Given the description of an element on the screen output the (x, y) to click on. 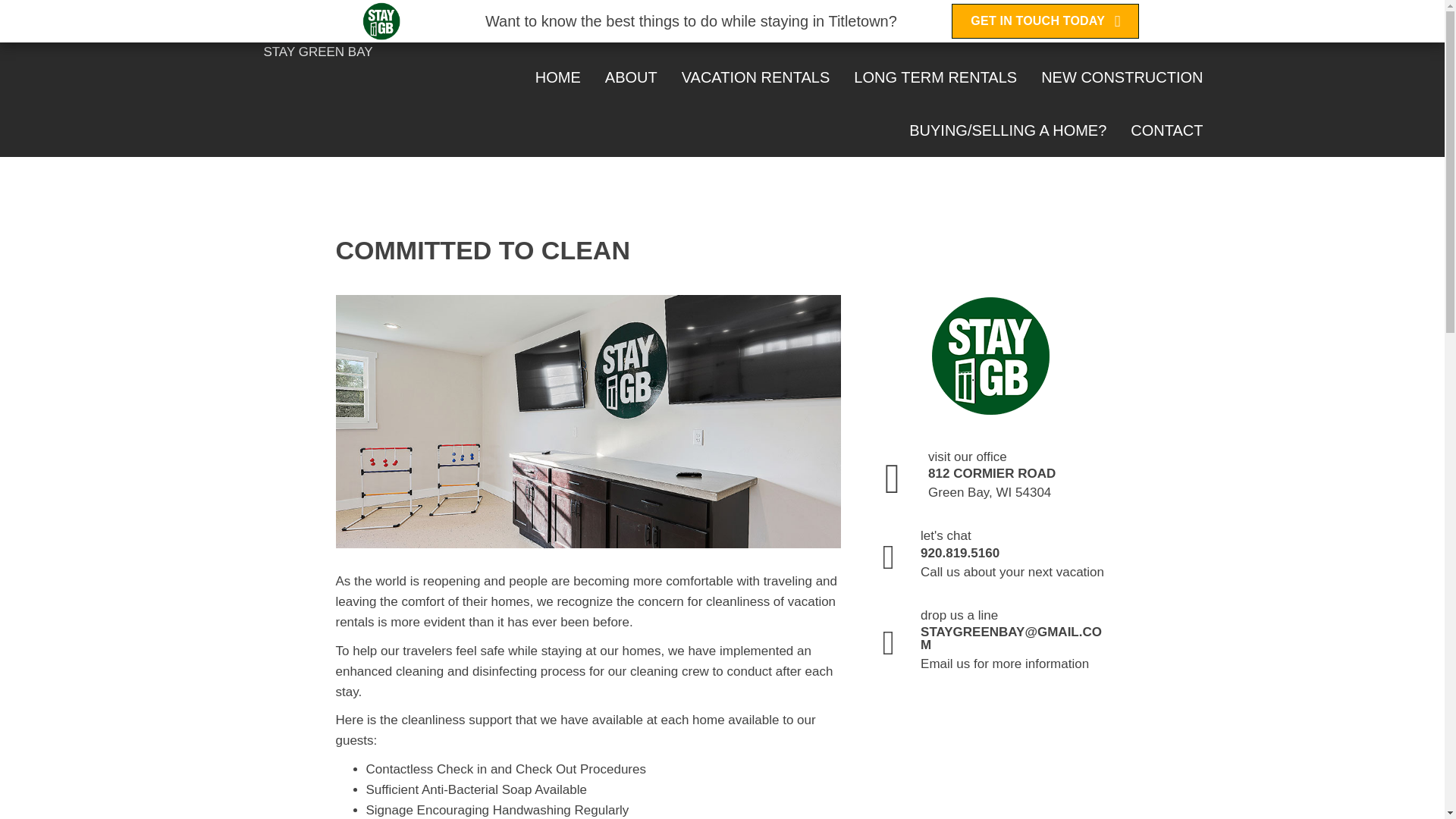
1086 Shadow Lane stay GB (587, 420)
Stay Green Bay WI (990, 355)
Stay Green Bay WI (318, 22)
920.819.5160 (1129, 28)
ABOUT (630, 76)
Stay Green Bay WI (381, 21)
HOME (558, 76)
CONTACT (1166, 130)
NEW CONSTRUCTION (1121, 76)
LONG TERM RENTALS (935, 76)
VACATION RENTALS (755, 76)
GET IN TOUCH TODAY (1045, 21)
